Given the description of an element on the screen output the (x, y) to click on. 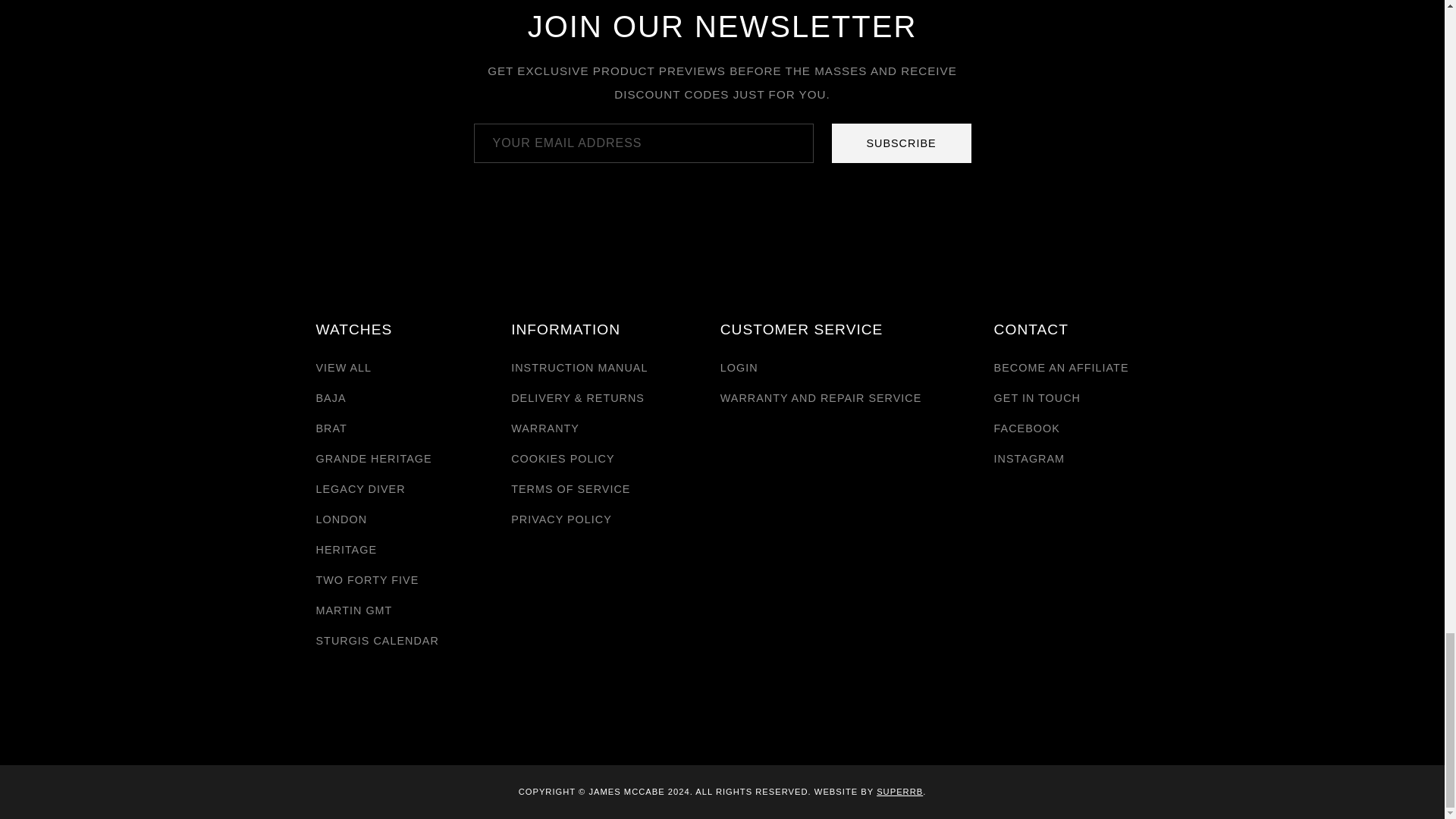
SUBSCRIBE (901, 142)
VIEW ALL (343, 367)
